Given the description of an element on the screen output the (x, y) to click on. 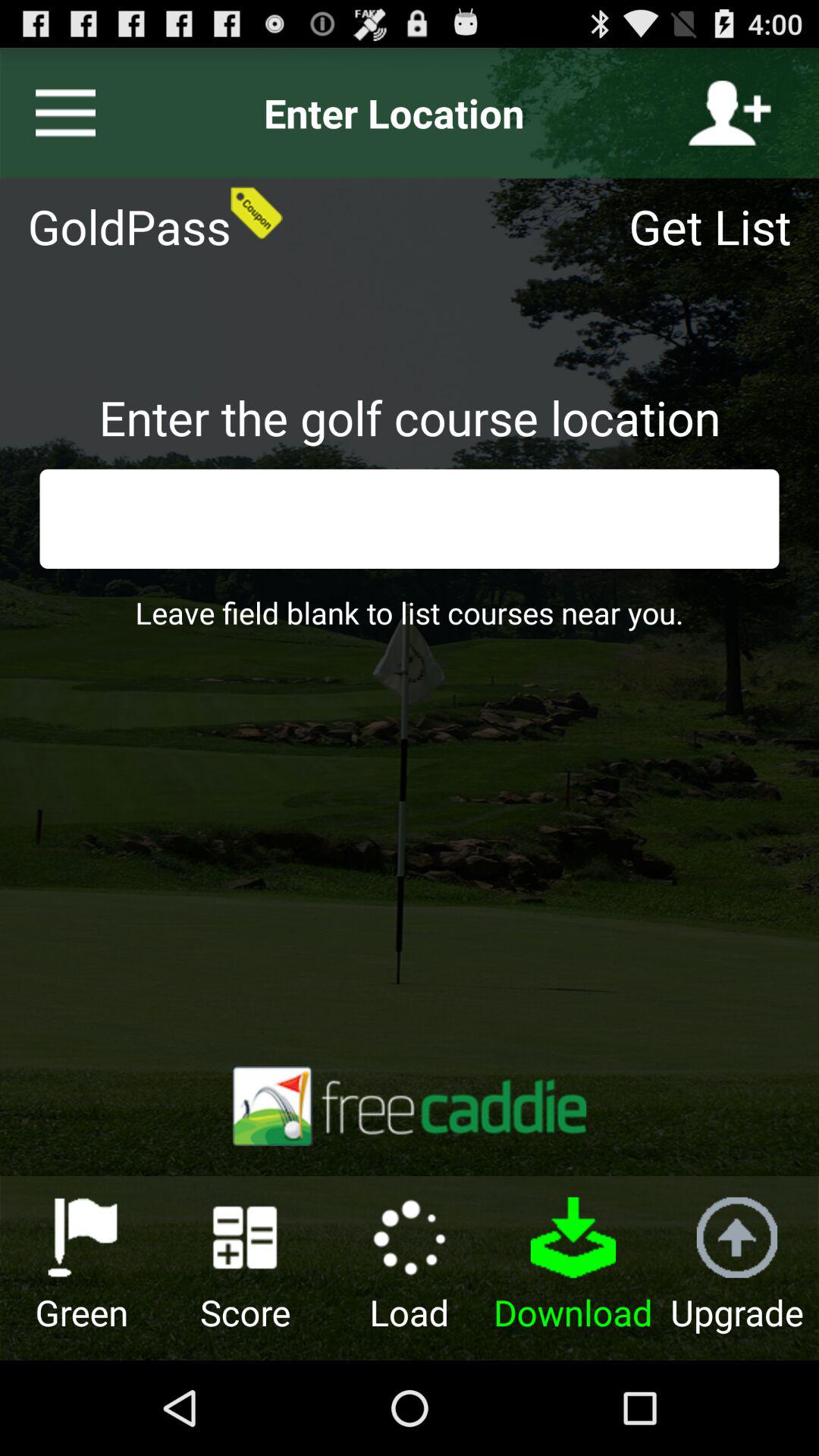
register to play (729, 112)
